Given the description of an element on the screen output the (x, y) to click on. 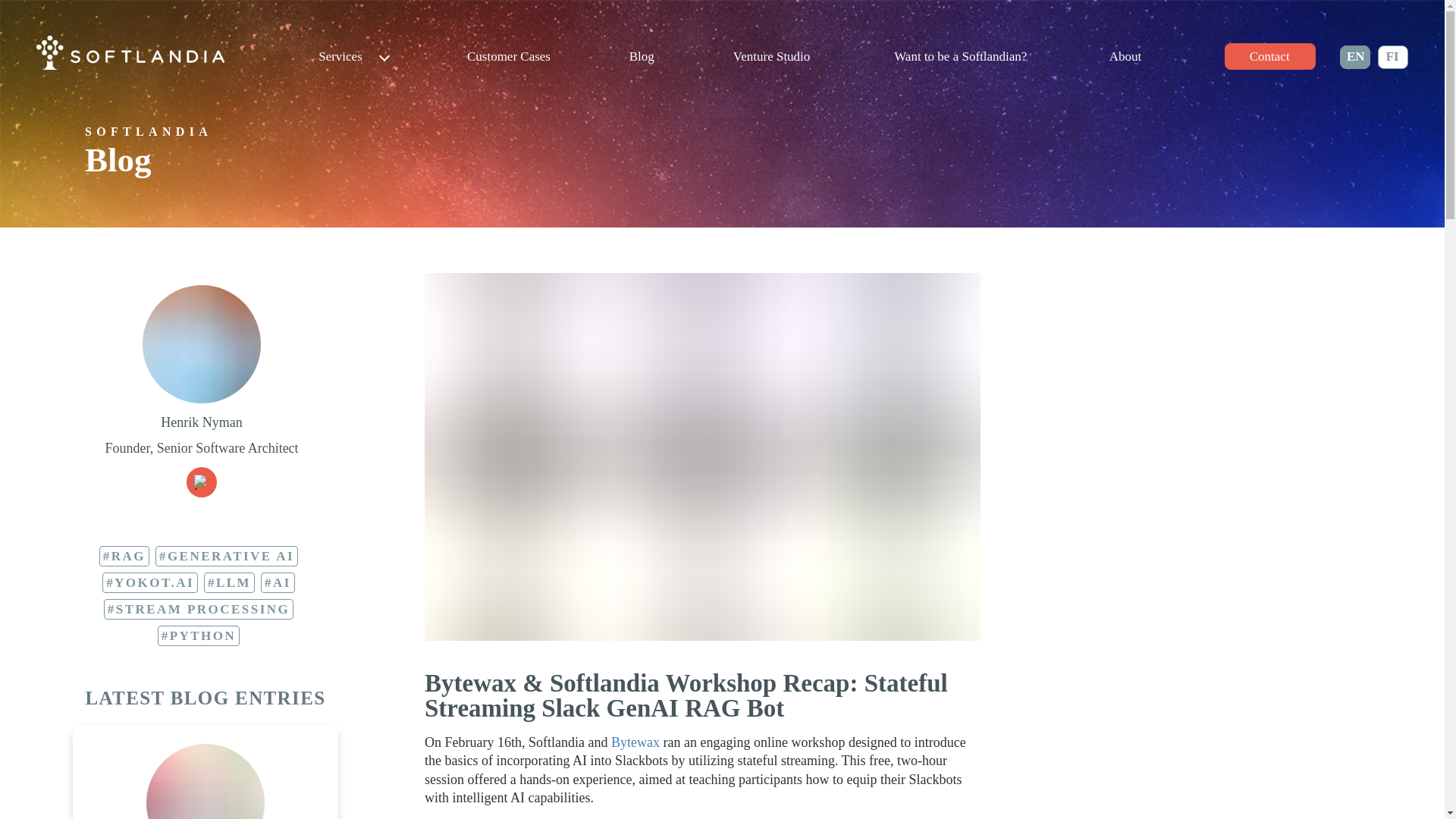
EN (1354, 56)
Services (353, 56)
Want to be a Softlandian? (960, 56)
Customer Cases (508, 56)
Want to be a Softlandian? (959, 56)
FI (1392, 56)
Blog (640, 56)
Venture Studio (771, 56)
Blog (642, 56)
Customer Cases (508, 56)
About (1125, 56)
Venture Studio (770, 56)
Services (353, 56)
Contact (1270, 56)
About (1125, 56)
